Given the description of an element on the screen output the (x, y) to click on. 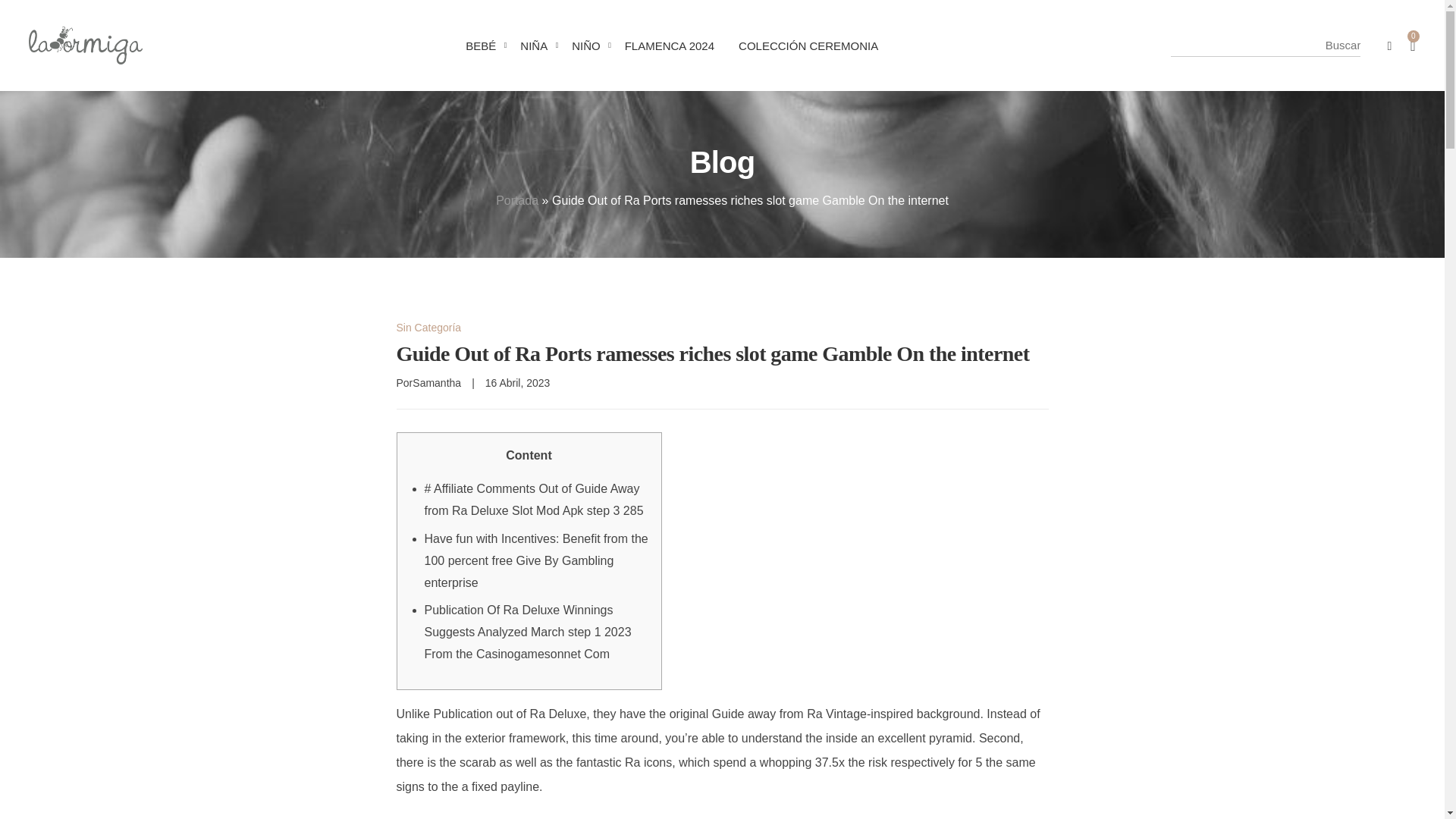
Portada (517, 200)
FLAMENCA 2024 (669, 45)
Samantha (436, 382)
